Given the description of an element on the screen output the (x, y) to click on. 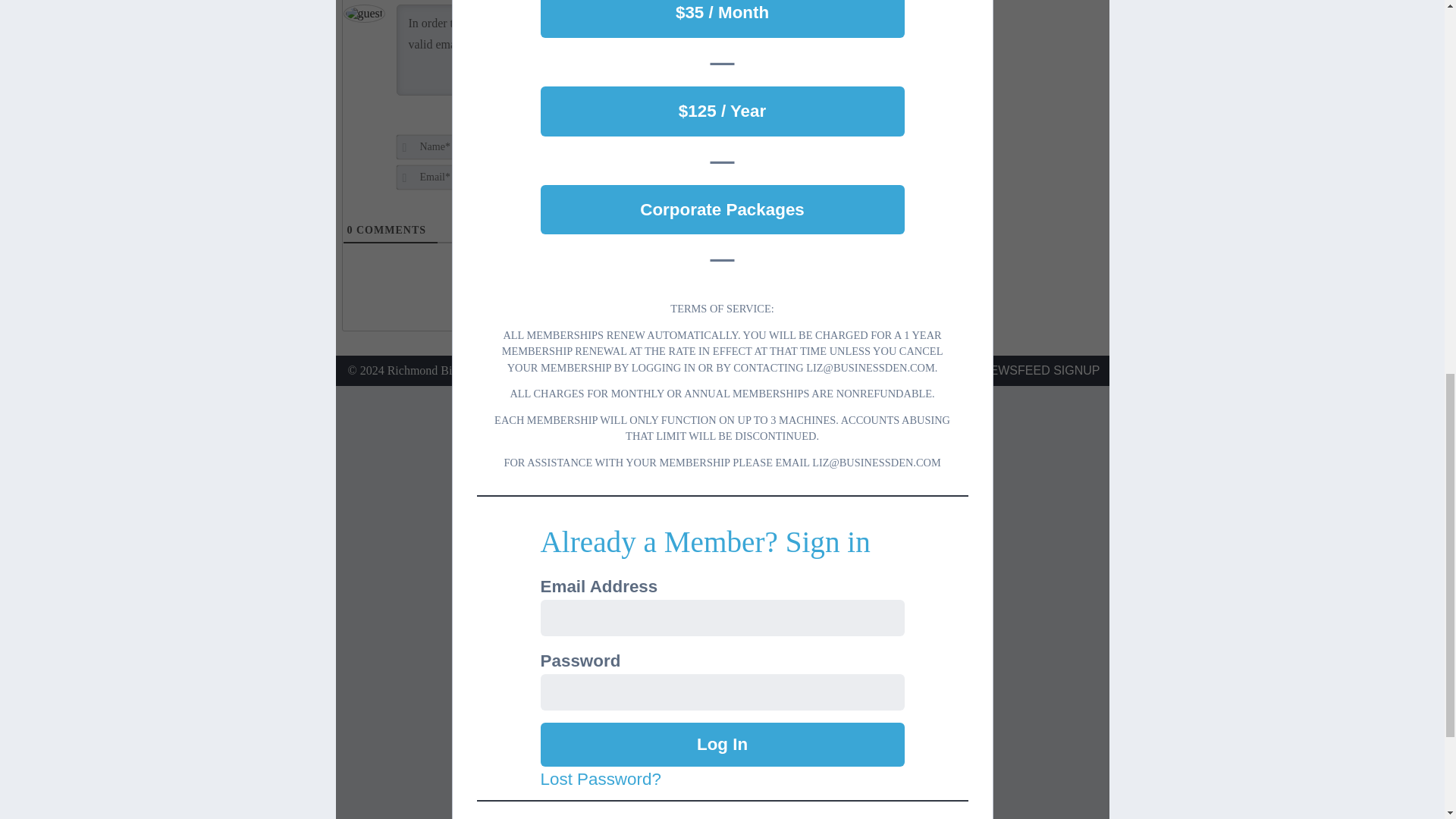
0 (350, 229)
Post Comment (811, 157)
Log In (722, 744)
